Given the description of an element on the screen output the (x, y) to click on. 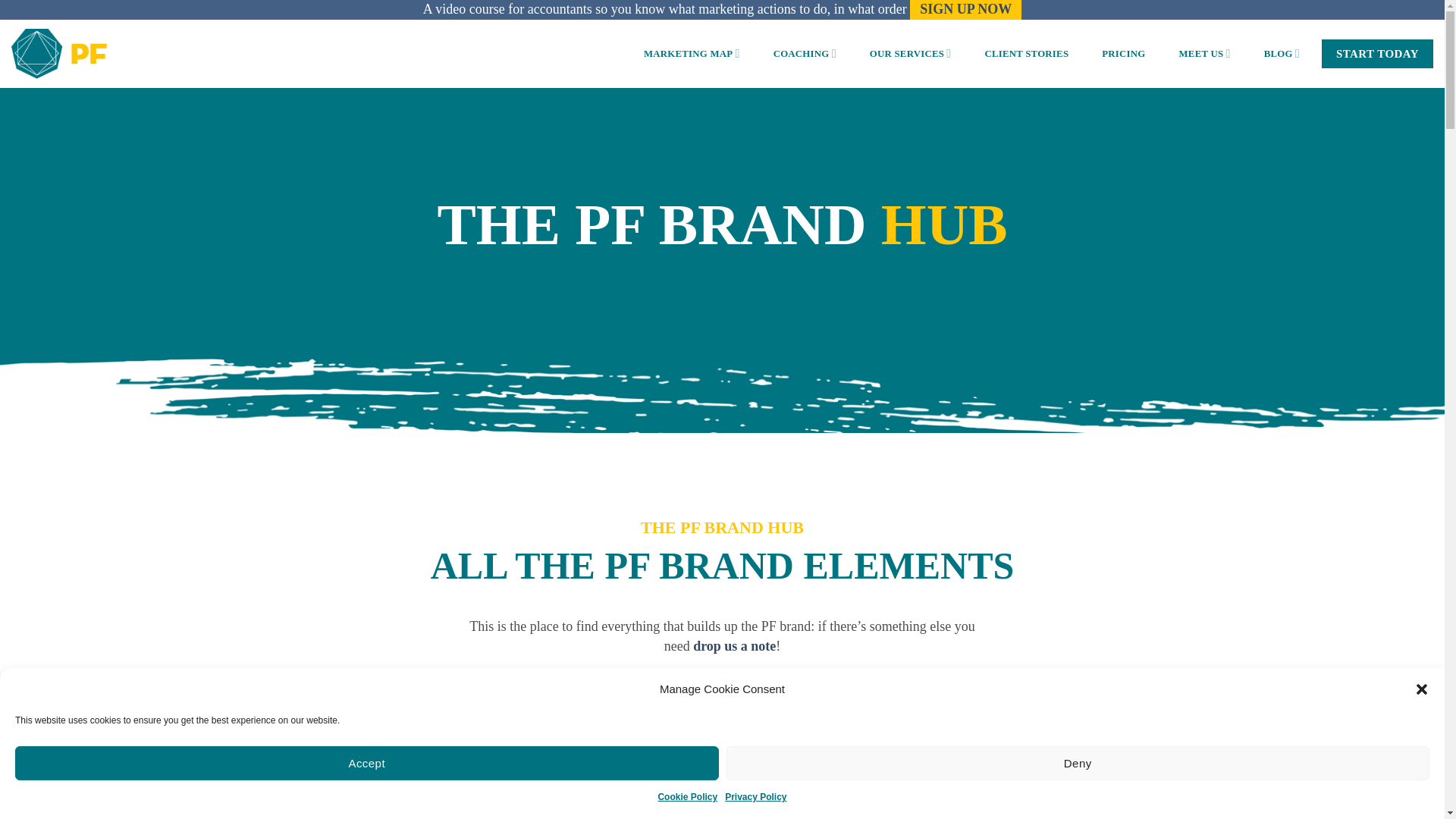
Privacy Policy (755, 797)
PF Logo (641, 750)
SIGN UP NOW (966, 9)
PRICING (1123, 53)
drop us a note (734, 645)
Logo Guidelines (518, 750)
wearePF (59, 53)
COACHING (804, 52)
PF colours (747, 750)
Deny (1077, 763)
BLOG (1281, 52)
Accept (366, 763)
MEET US (1204, 52)
CLIENT STORIES (1026, 53)
OUR SERVICES (910, 52)
